Given the description of an element on the screen output the (x, y) to click on. 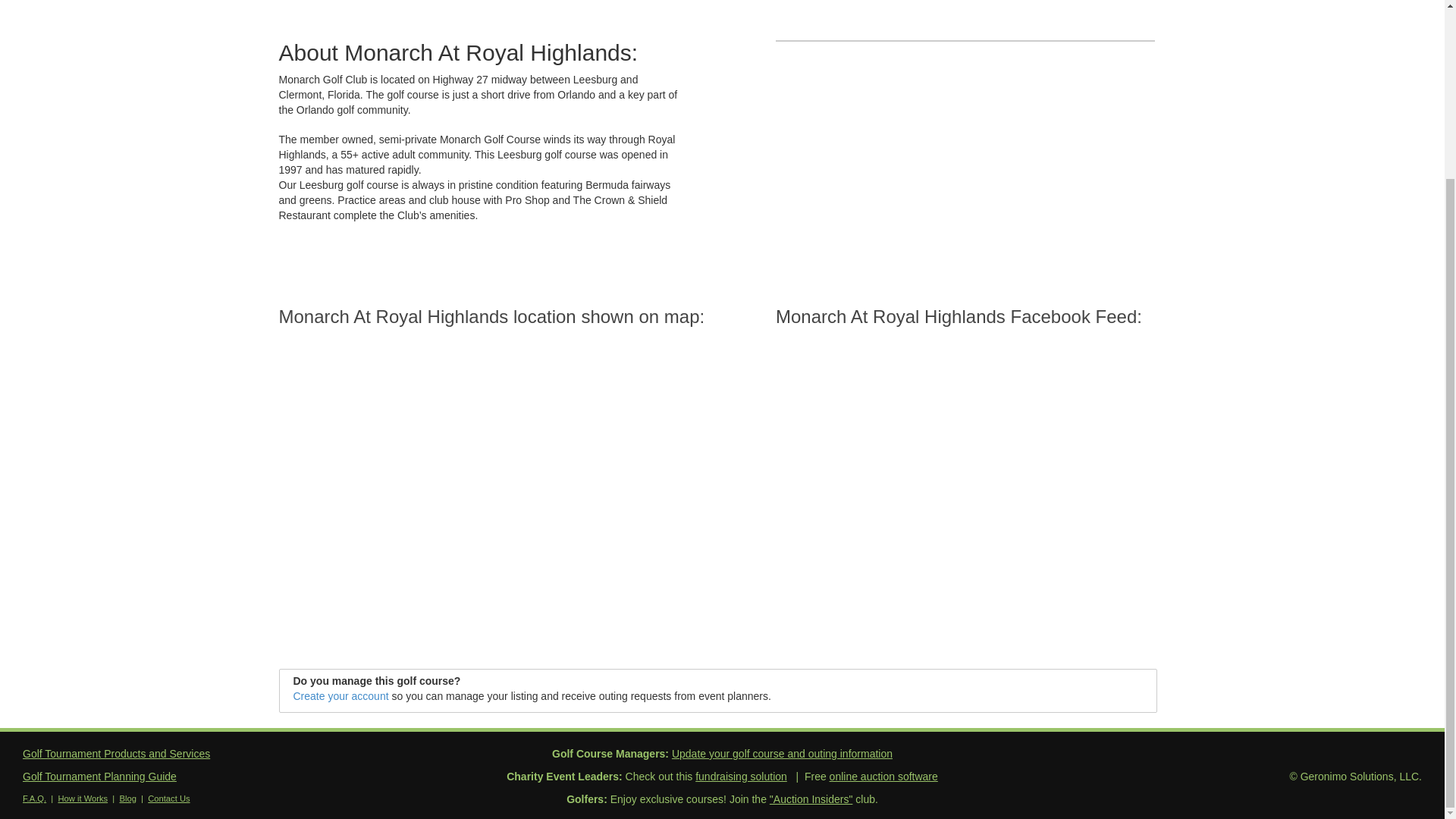
Gain access to exclusive private golf clubs (811, 799)
Create your account (340, 695)
